Given the description of an element on the screen output the (x, y) to click on. 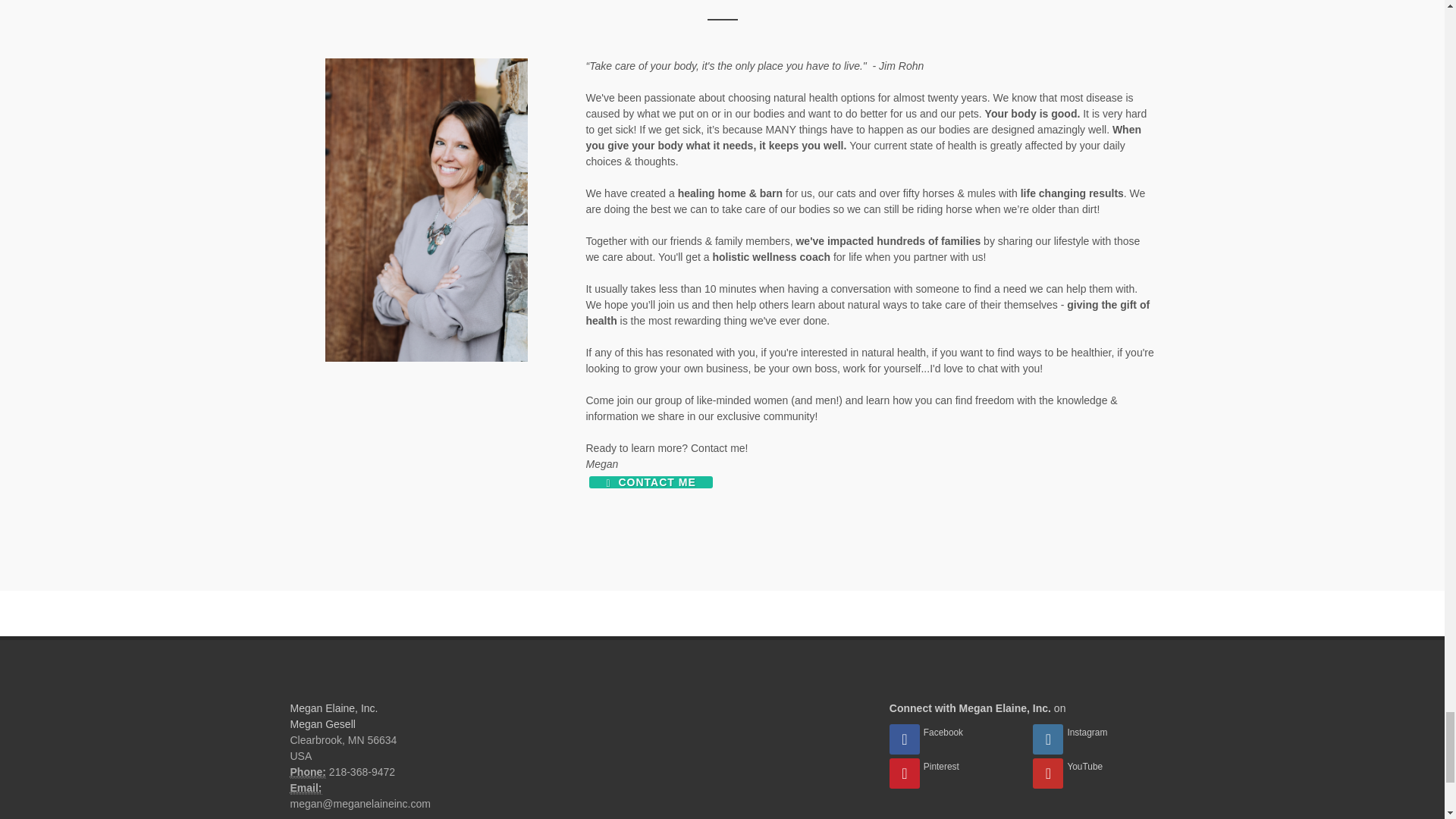
Phone Number (306, 771)
Email Address (305, 788)
